Given the description of an element on the screen output the (x, y) to click on. 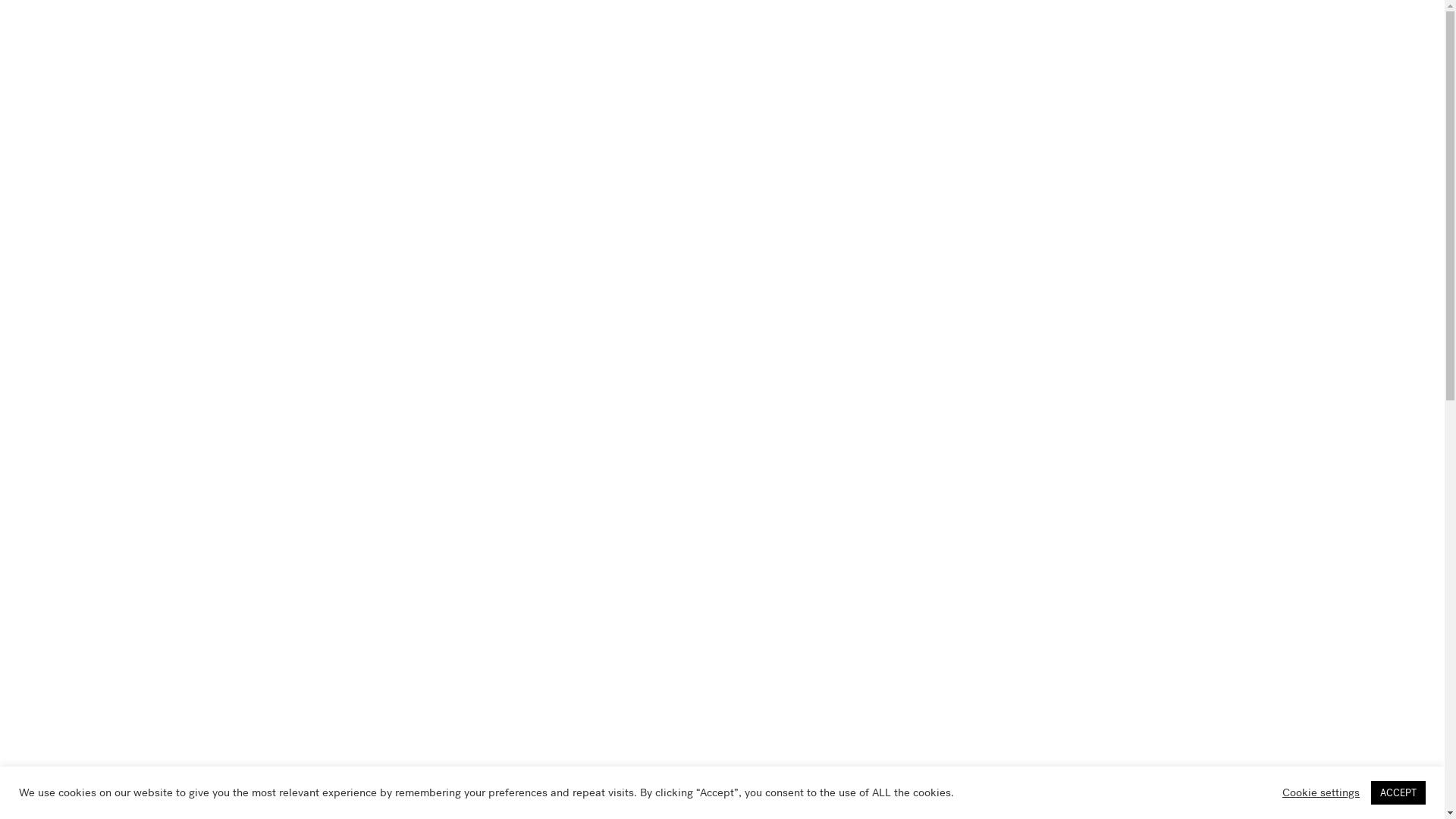
https://www.zsis.ch Element type: text (476, 760)
ACCEPT Element type: text (1398, 792)
http://www.isistax.ch Element type: text (482, 795)
PUBLIKATIONEN Element type: text (312, 225)
Cookie settings Element type: text (1320, 792)
Fabian Duss Element type: text (452, 683)
